Given the description of an element on the screen output the (x, y) to click on. 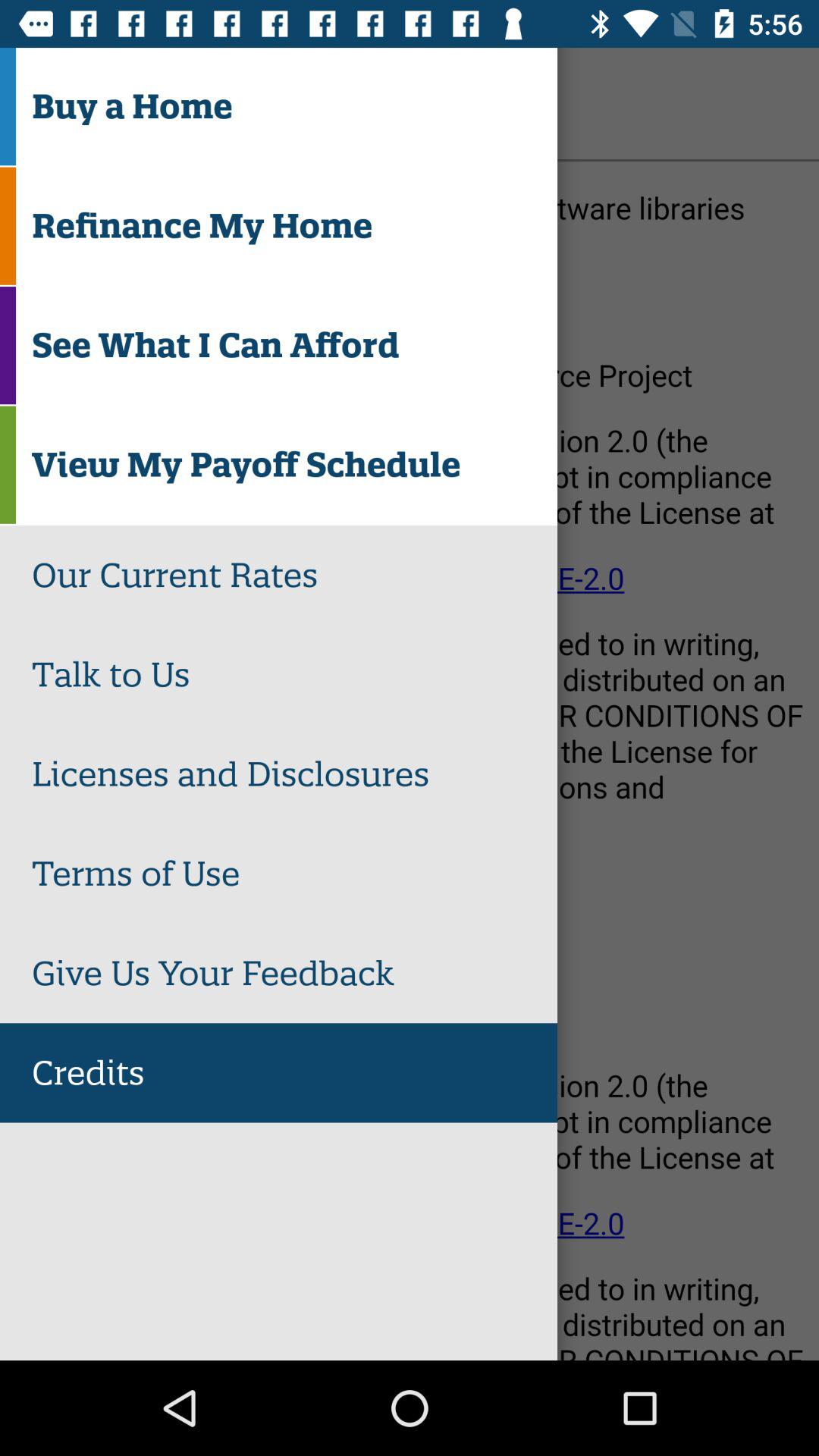
launch the talk to us icon (294, 674)
